Given the description of an element on the screen output the (x, y) to click on. 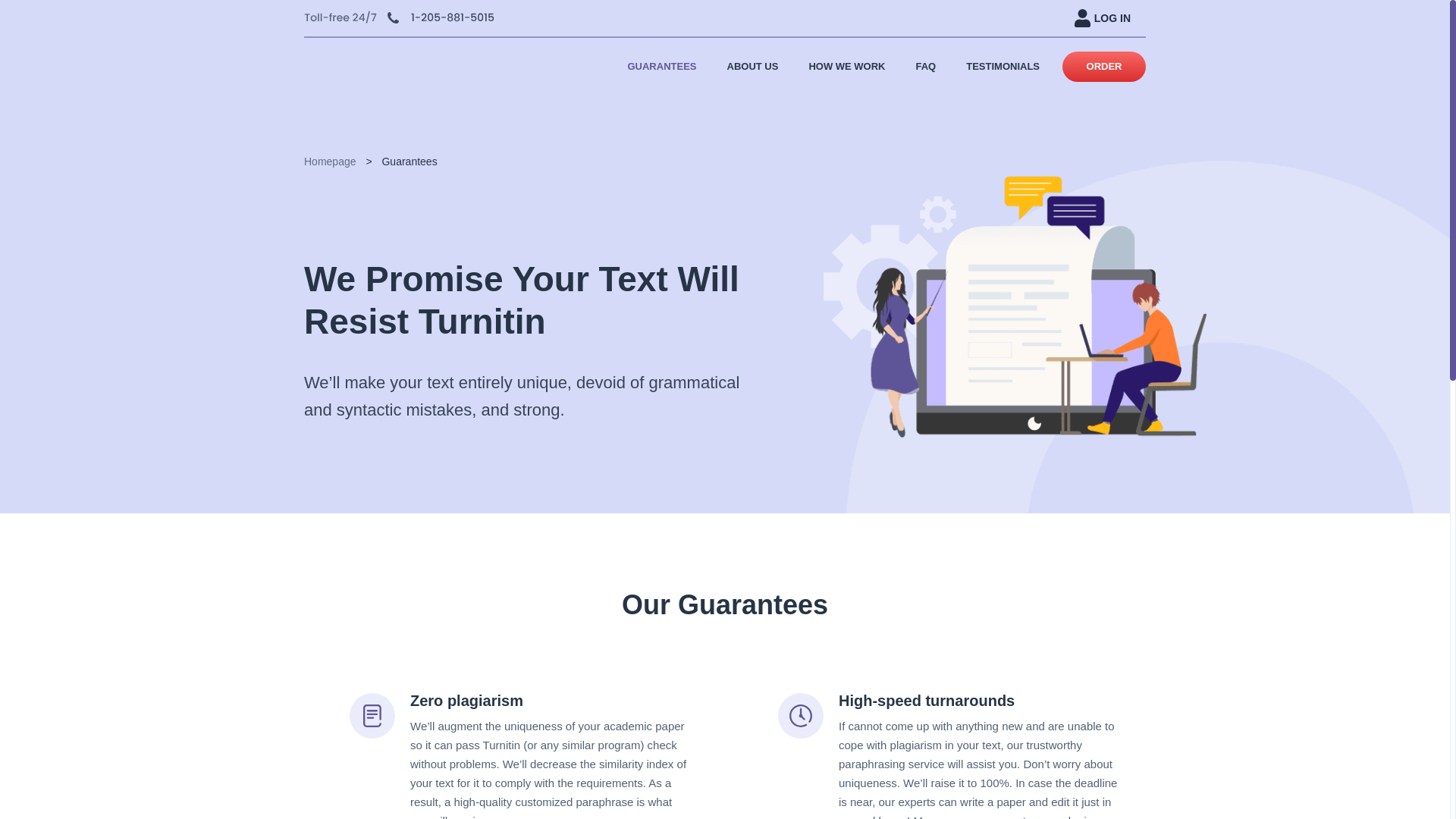
GUARANTEES (661, 65)
FAQ (925, 65)
ORDER (1103, 66)
ABOUT US (751, 65)
LOG IN (1102, 18)
TESTIMONIALS (1002, 65)
HOW WE WORK (846, 65)
Homepage (330, 161)
